Given the description of an element on the screen output the (x, y) to click on. 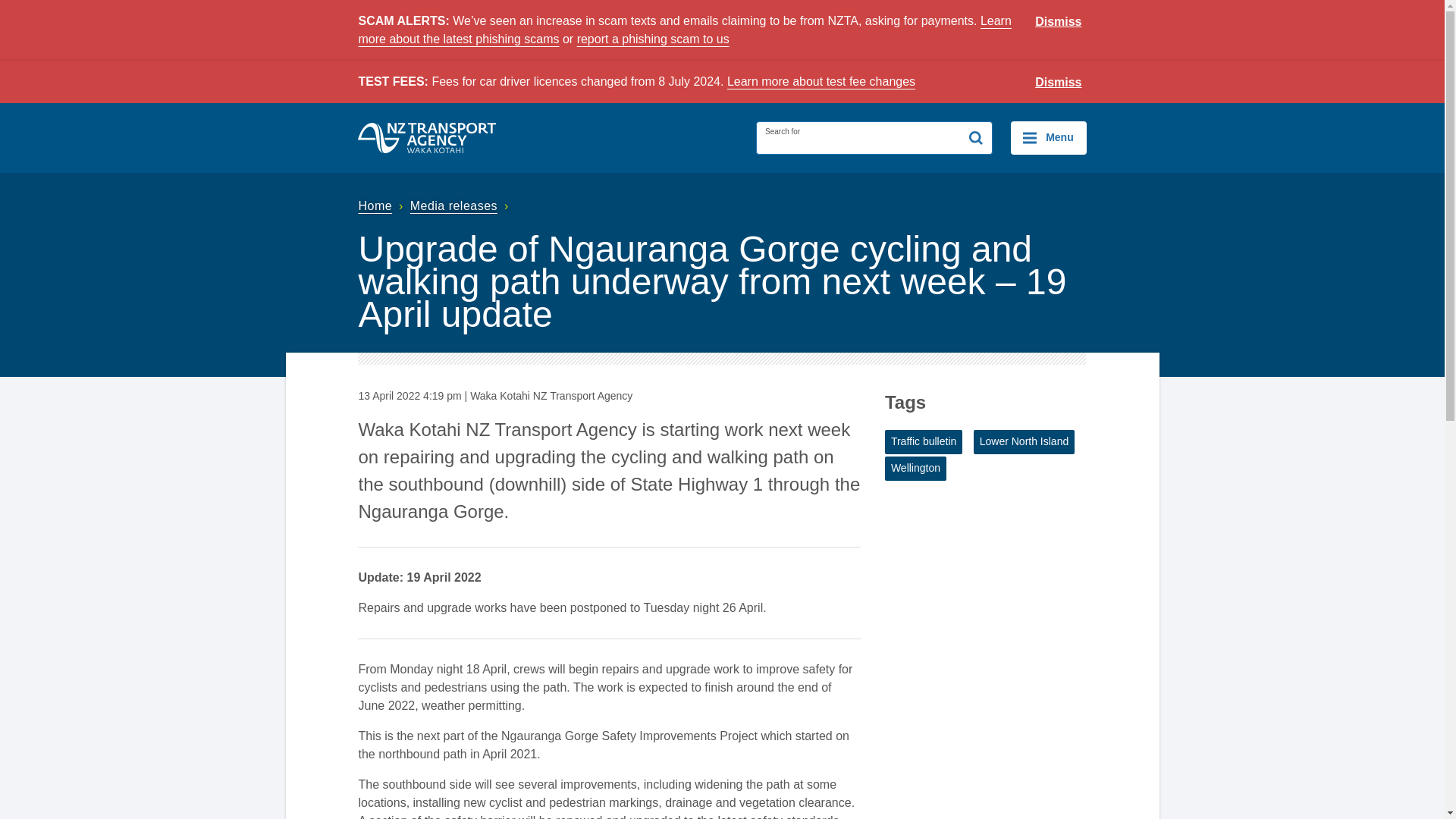
Learn more about test fee changes (820, 81)
View all posts tagged 'Wellington' (915, 468)
Learn more about the latest phishing scams (684, 29)
report a phishing scam to us (652, 38)
View all posts tagged 'Lower North Island' (1024, 441)
NZ Transport Agency Waka Kotahi (427, 137)
Home (382, 205)
Dismiss (1058, 21)
View all posts tagged 'Traffic bulletin' (923, 441)
Menu (1048, 137)
Dismiss (1058, 82)
